Given the description of an element on the screen output the (x, y) to click on. 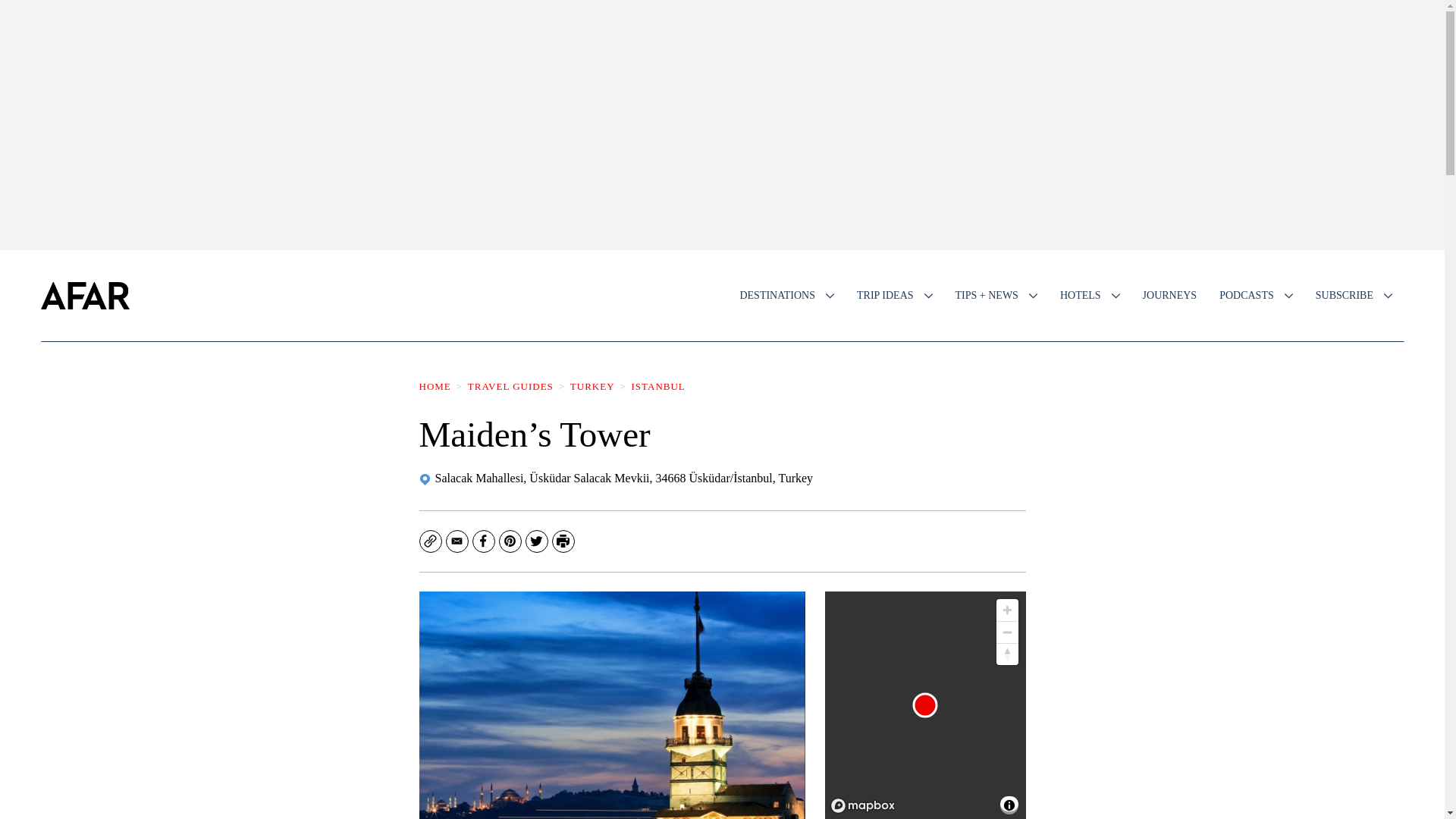
Zoom in (1006, 609)
Reset bearing to north (1006, 654)
Zoom out (1006, 631)
